Given the description of an element on the screen output the (x, y) to click on. 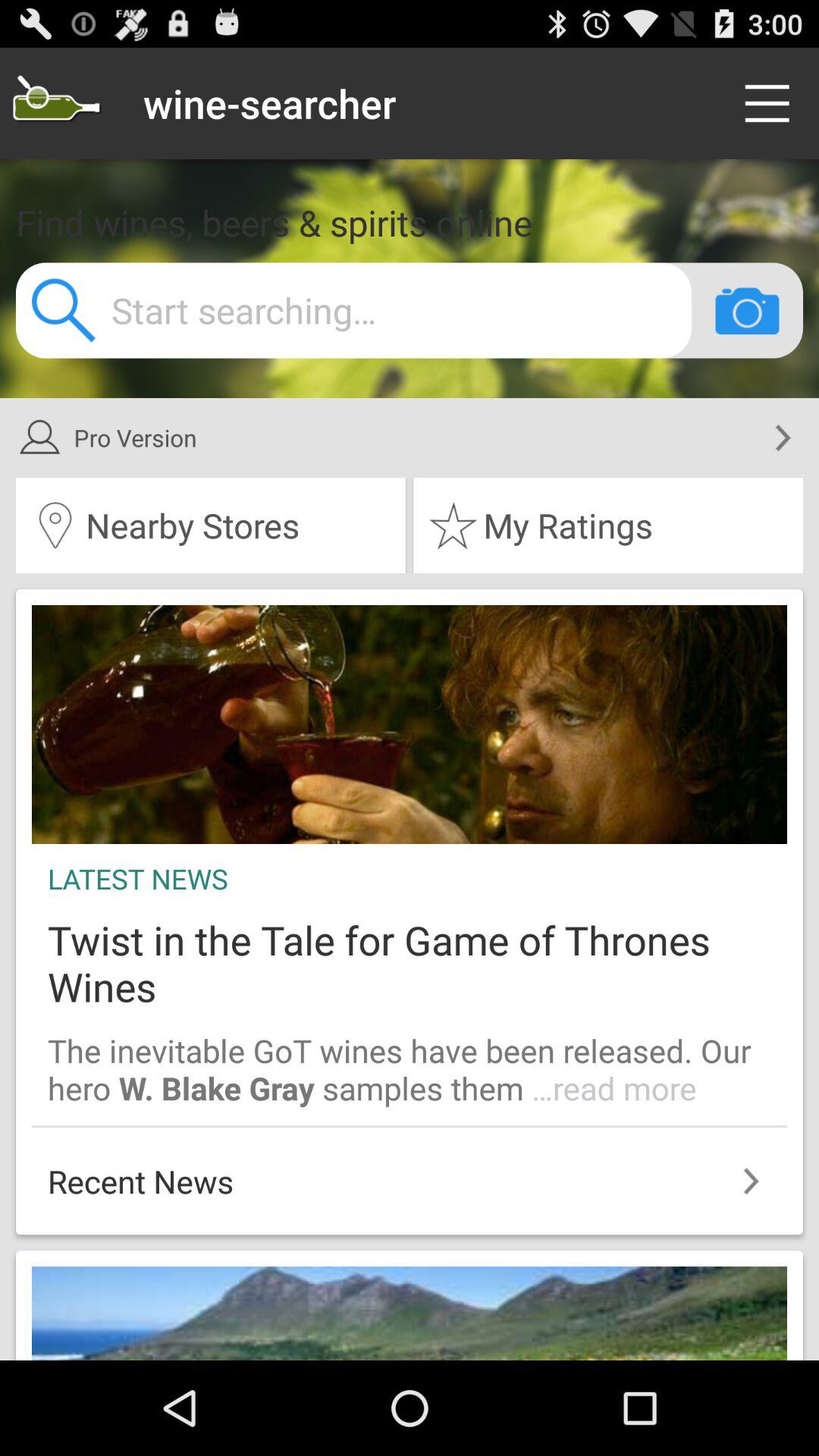
find your wine (55, 103)
